Given the description of an element on the screen output the (x, y) to click on. 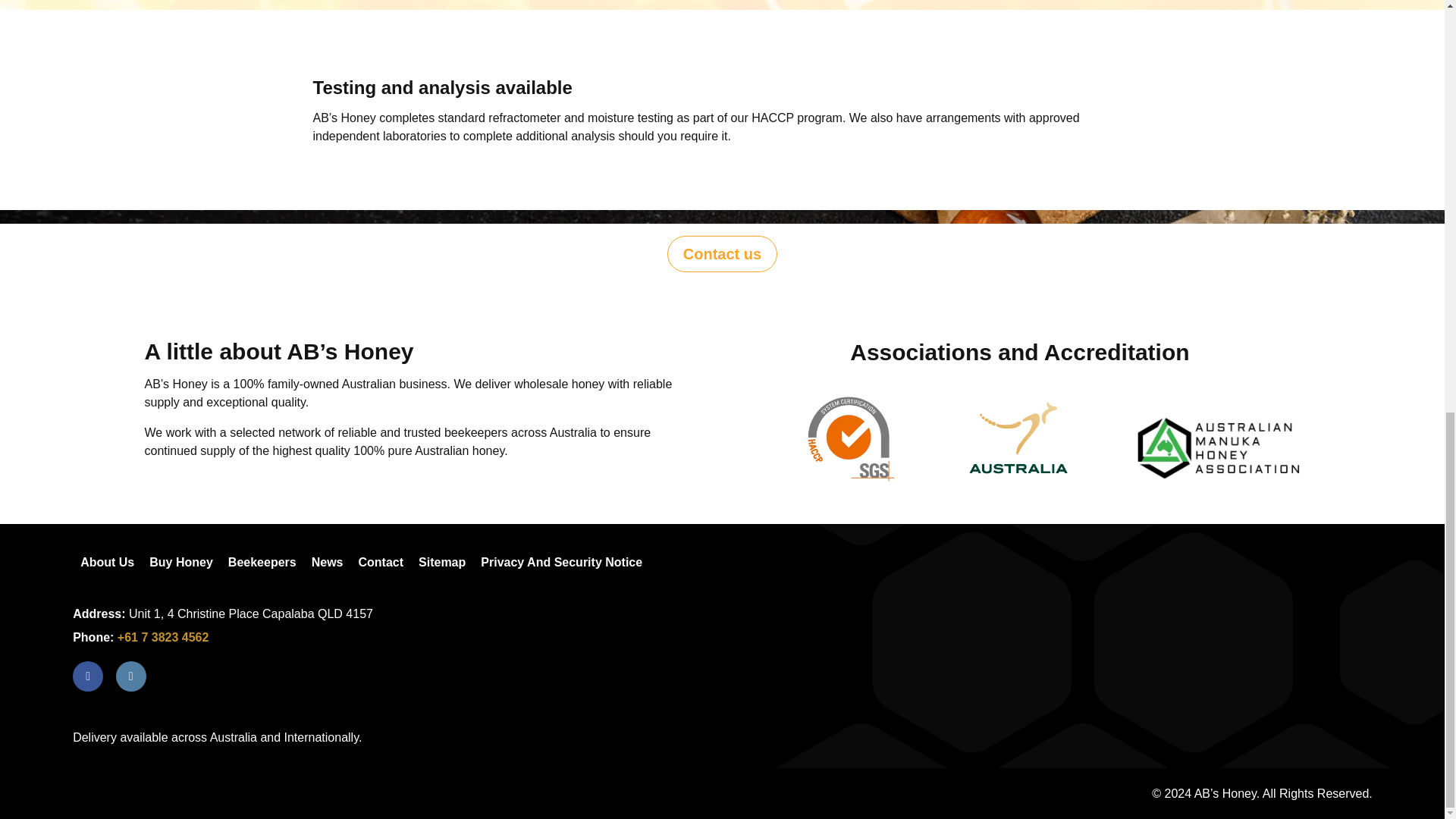
Beekeepers (262, 562)
Contact us (721, 253)
Australian-Manuka-Honey-Association-scaled (1218, 447)
Buy Honey (181, 562)
Australia (1019, 437)
About Us (106, 562)
